Given the description of an element on the screen output the (x, y) to click on. 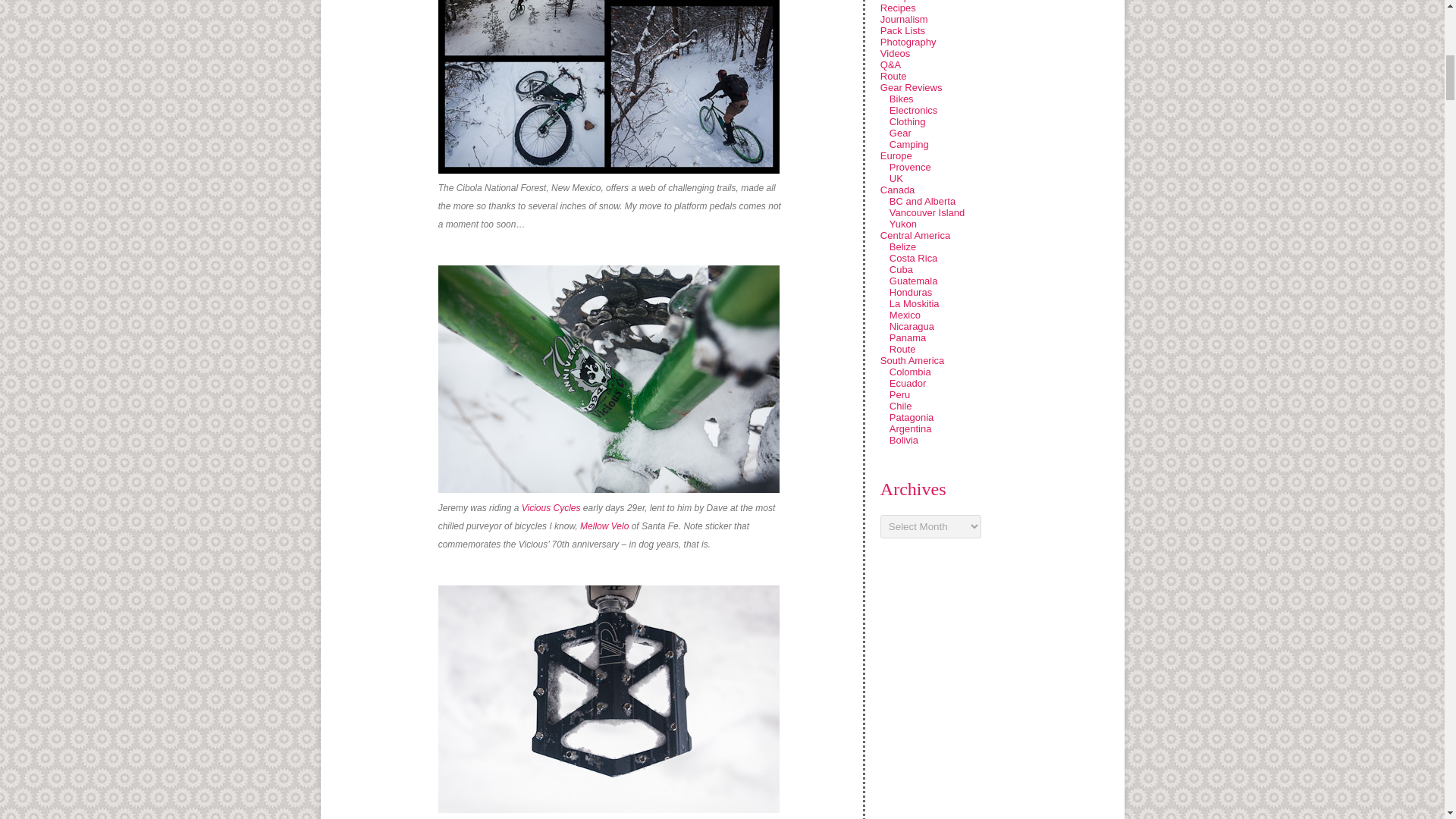
Vicious Cycles (550, 507)
Mellow Velo (603, 525)
